Given the description of an element on the screen output the (x, y) to click on. 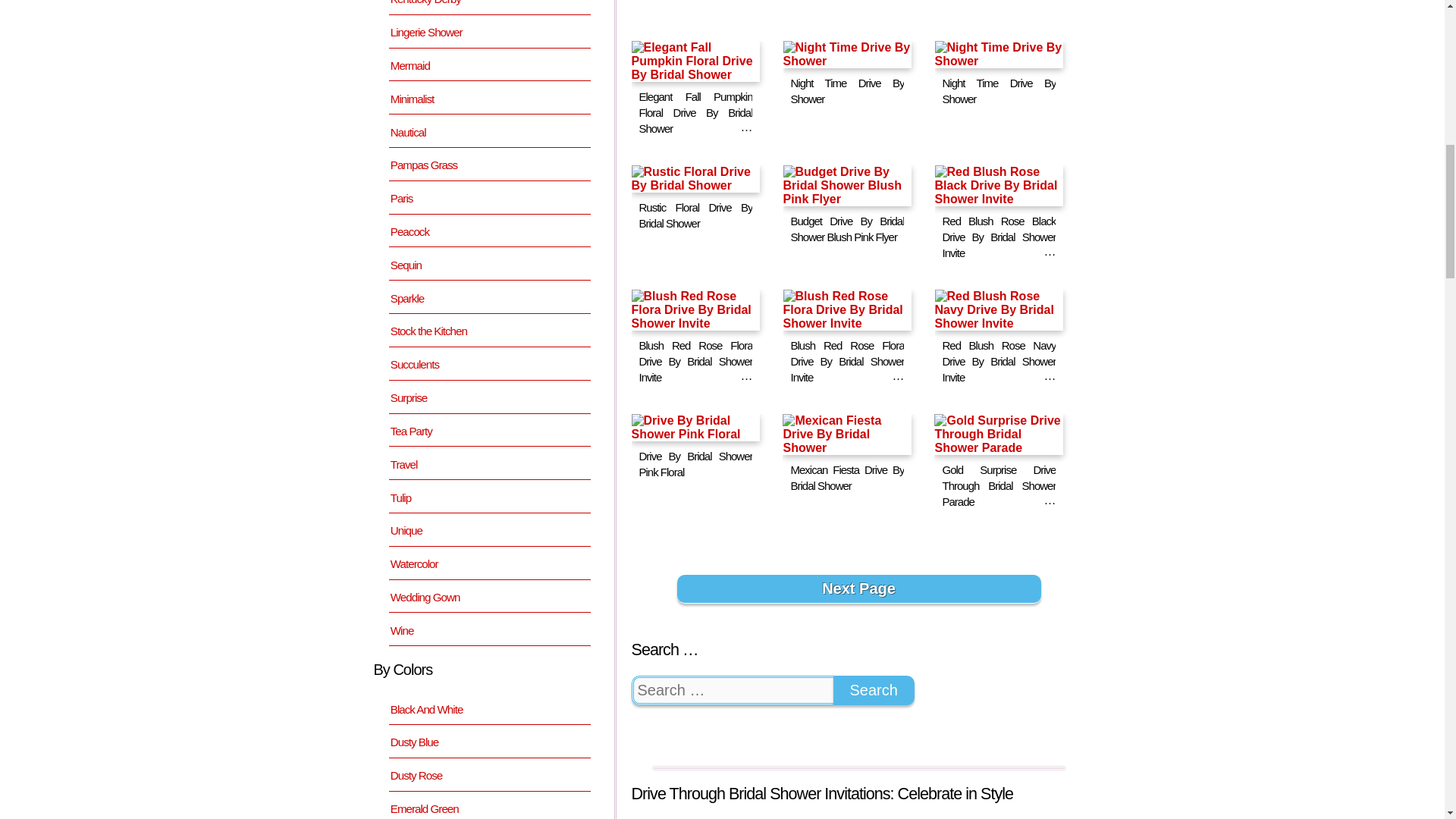
Next Page (859, 588)
Search (873, 690)
Search (873, 690)
Search (873, 690)
